Given the description of an element on the screen output the (x, y) to click on. 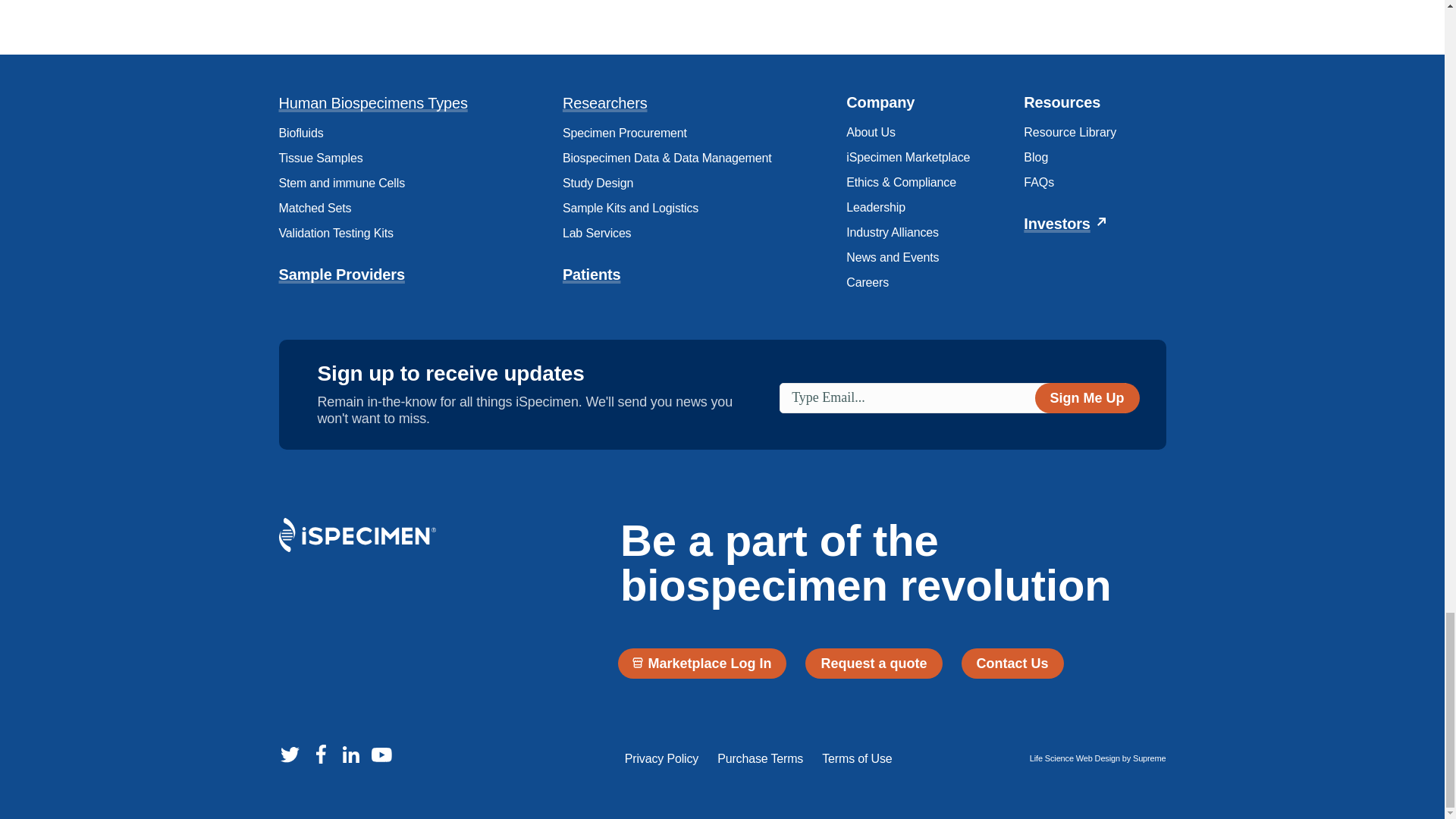
Sprite (381, 753)
Sprite (319, 753)
Investors (1056, 223)
Sprite (357, 534)
Patients (591, 274)
Sprite (350, 753)
Sprite (290, 753)
Sign Me Up (1087, 397)
Sample Providers (341, 274)
